Given the description of an element on the screen output the (x, y) to click on. 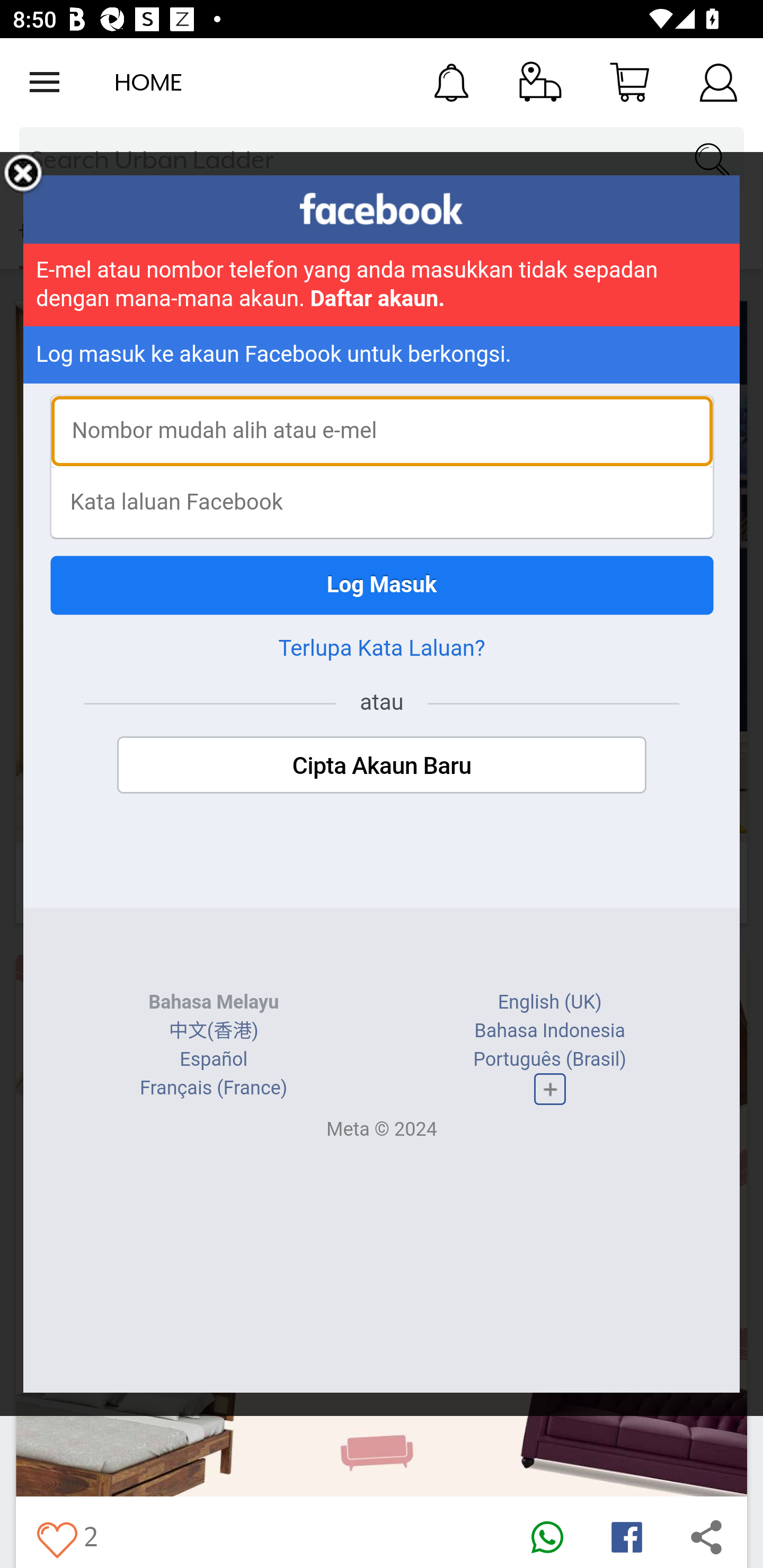
facebook (381, 208)
Daftar akaun. (377, 298)
Log Masuk (381, 585)
Terlupa Kata Laluan? (381, 648)
Cipta Akaun Baru (381, 764)
English (UK) (549, 1002)
中文(香港) (212, 1030)
Bahasa Indonesia (549, 1030)
Español (213, 1058)
Português (Brasil) (550, 1058)
Senarai lengkap bahasa (548, 1088)
Français (France) (213, 1087)
